Given the description of an element on the screen output the (x, y) to click on. 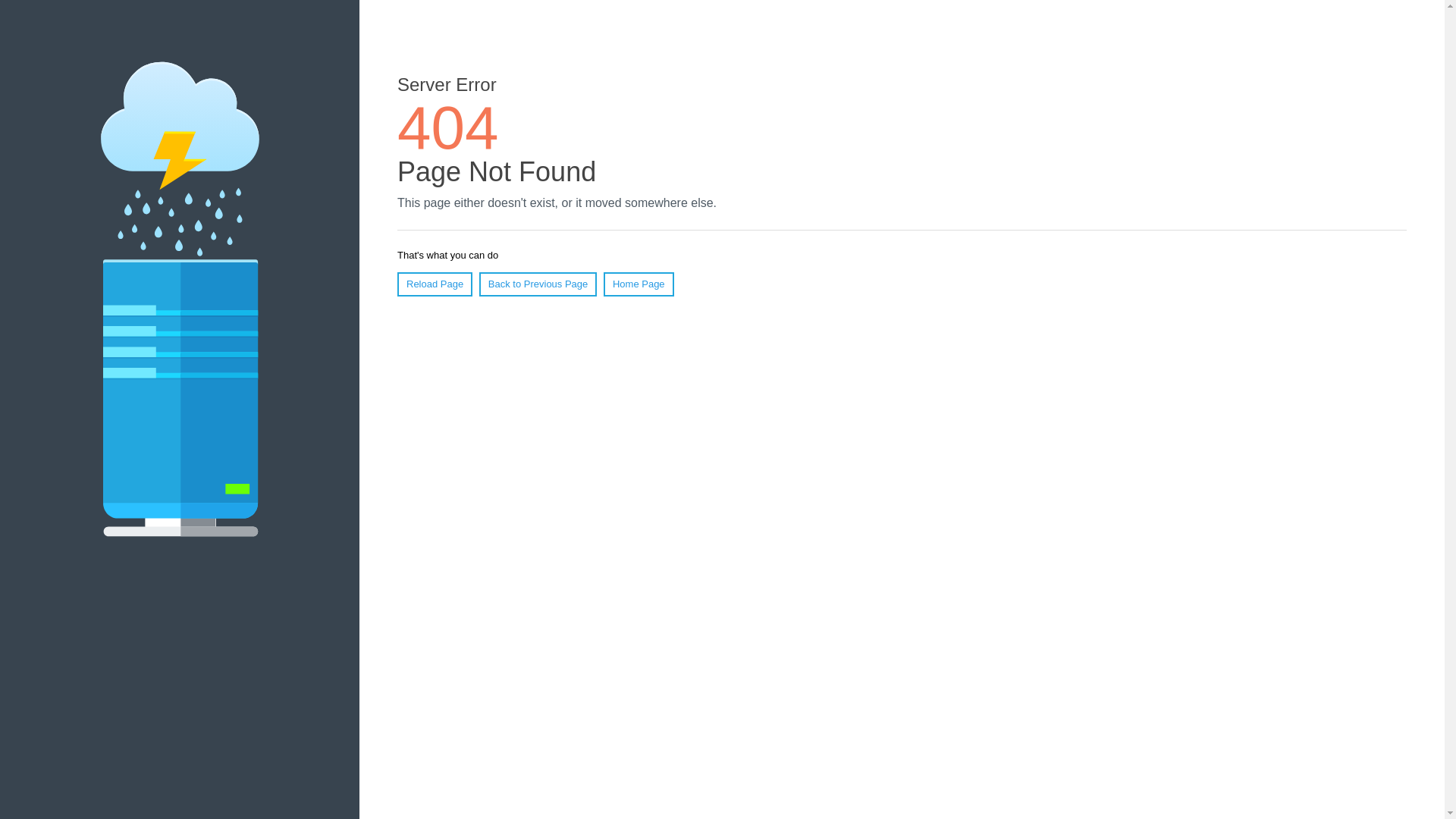
Home Page Element type: text (638, 284)
Back to Previous Page Element type: text (538, 284)
Reload Page Element type: text (434, 284)
